Given the description of an element on the screen output the (x, y) to click on. 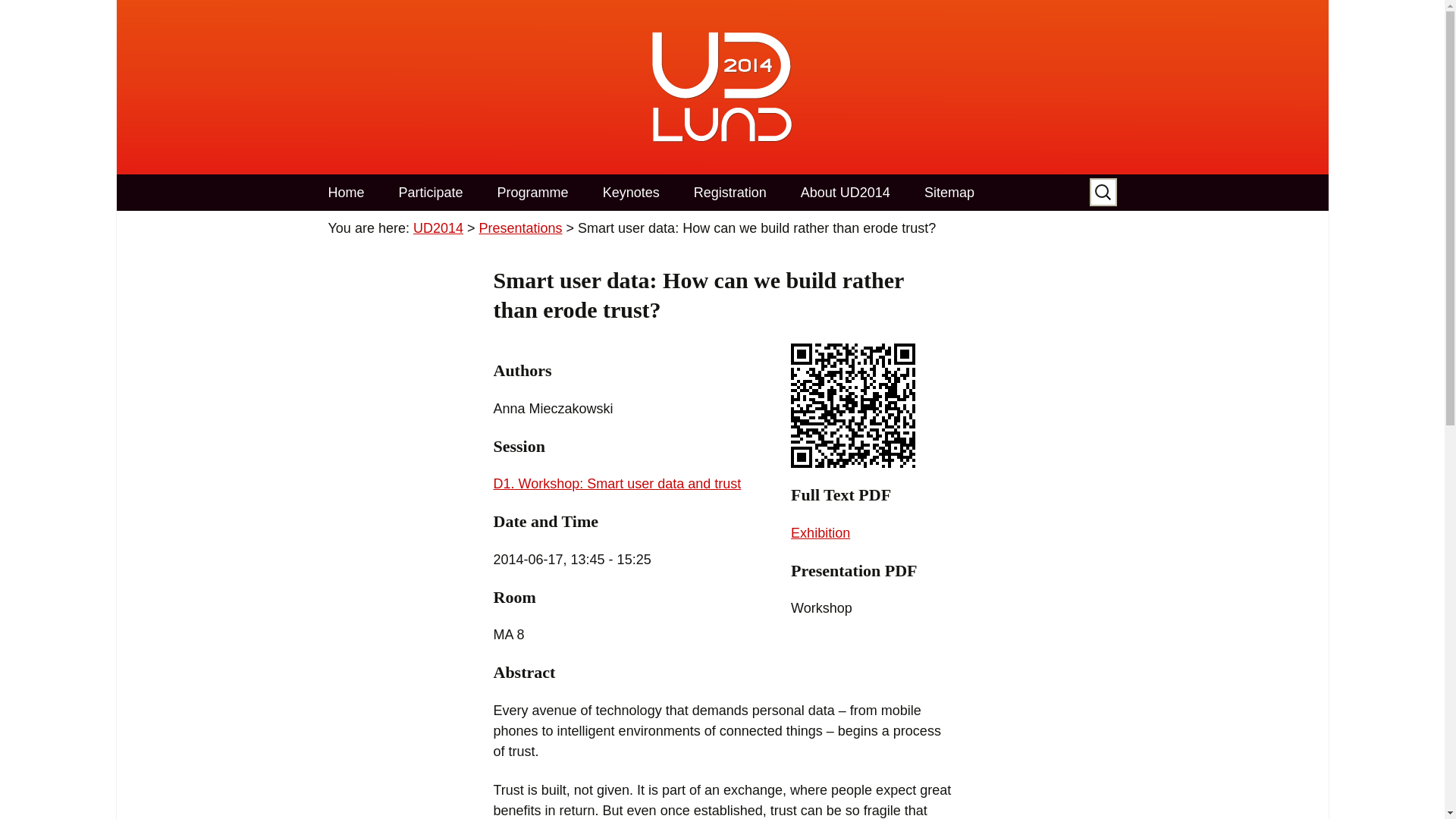
Exhibition (820, 532)
Home (345, 192)
Go to Presentations. (520, 227)
Participate (431, 192)
Go to UD2014. (438, 227)
Search (18, 17)
Registration (729, 192)
About UD2014 (845, 192)
Presentations (520, 227)
Welcome to UD2014 (345, 192)
Sitemap (949, 192)
D1. Workshop: Smart user data and trust (617, 483)
